Given the description of an element on the screen output the (x, y) to click on. 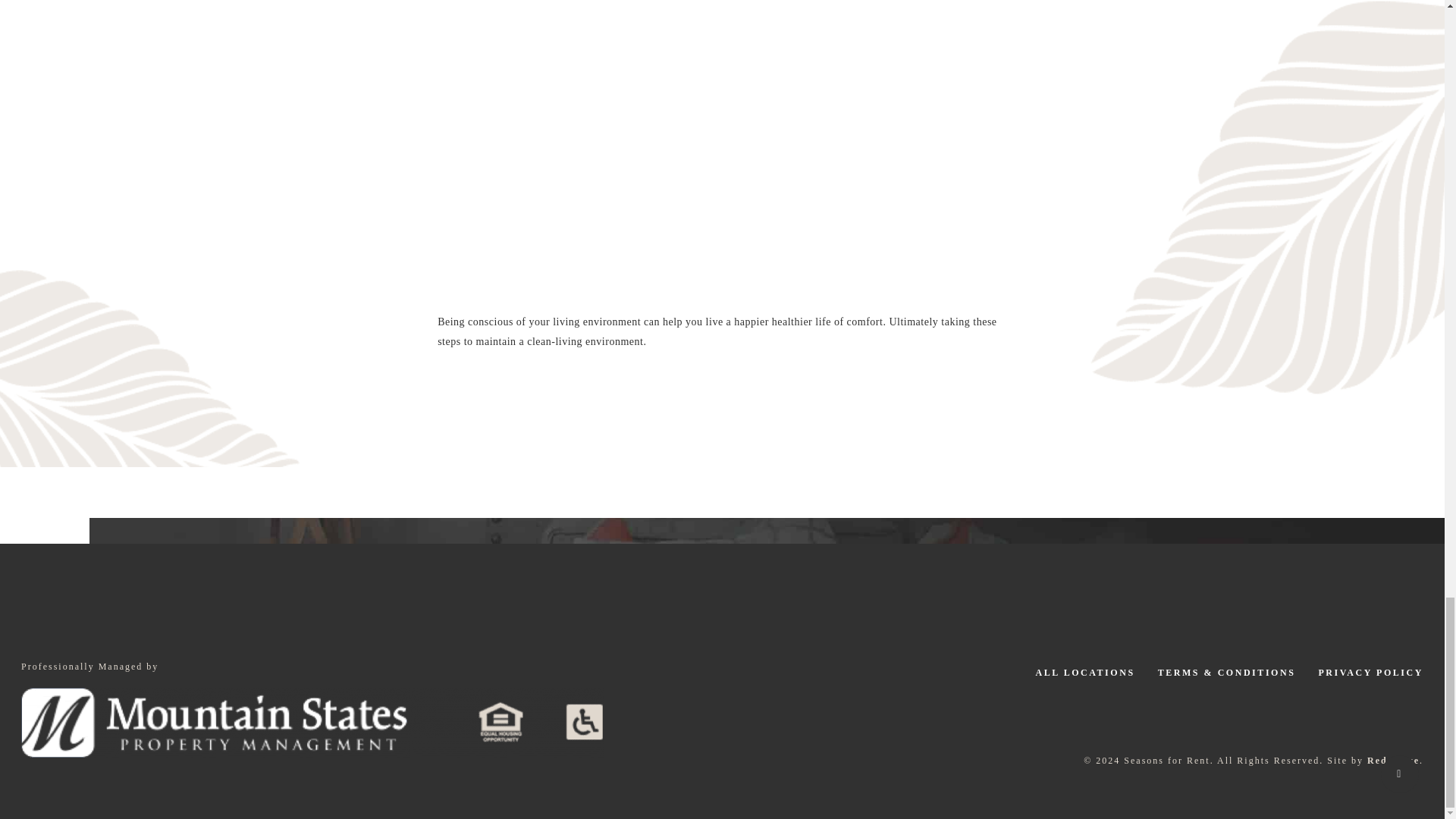
Red Olive (1393, 760)
PRIVACY POLICY (1370, 672)
ALL LOCATIONS (1084, 672)
